Given the description of an element on the screen output the (x, y) to click on. 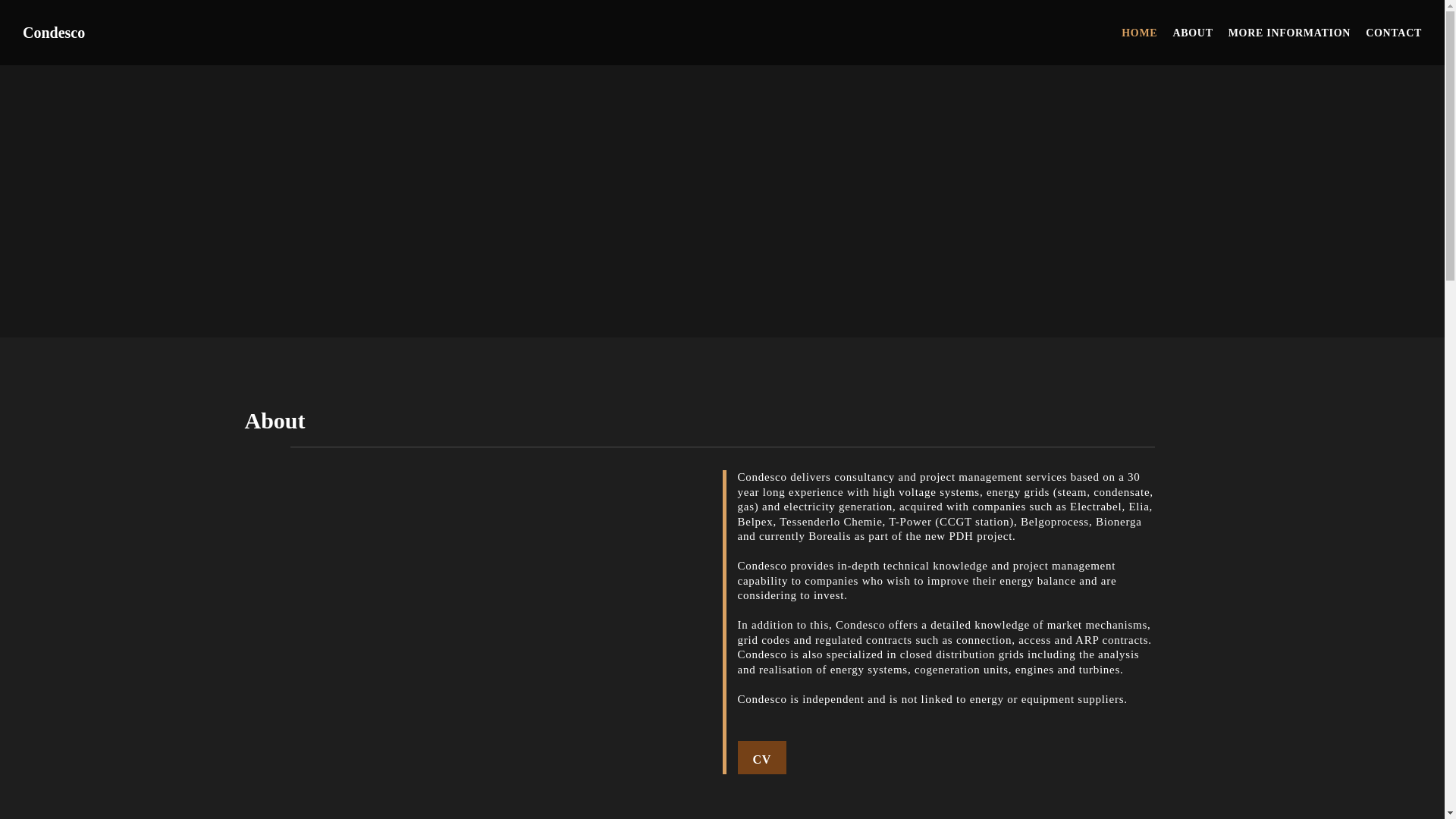
ABOUT Element type: text (1184, 33)
CV Element type: text (761, 757)
HOME Element type: text (1131, 33)
CONTACT Element type: text (1385, 33)
MORE INFORMATION Element type: text (1281, 33)
